Given the description of an element on the screen output the (x, y) to click on. 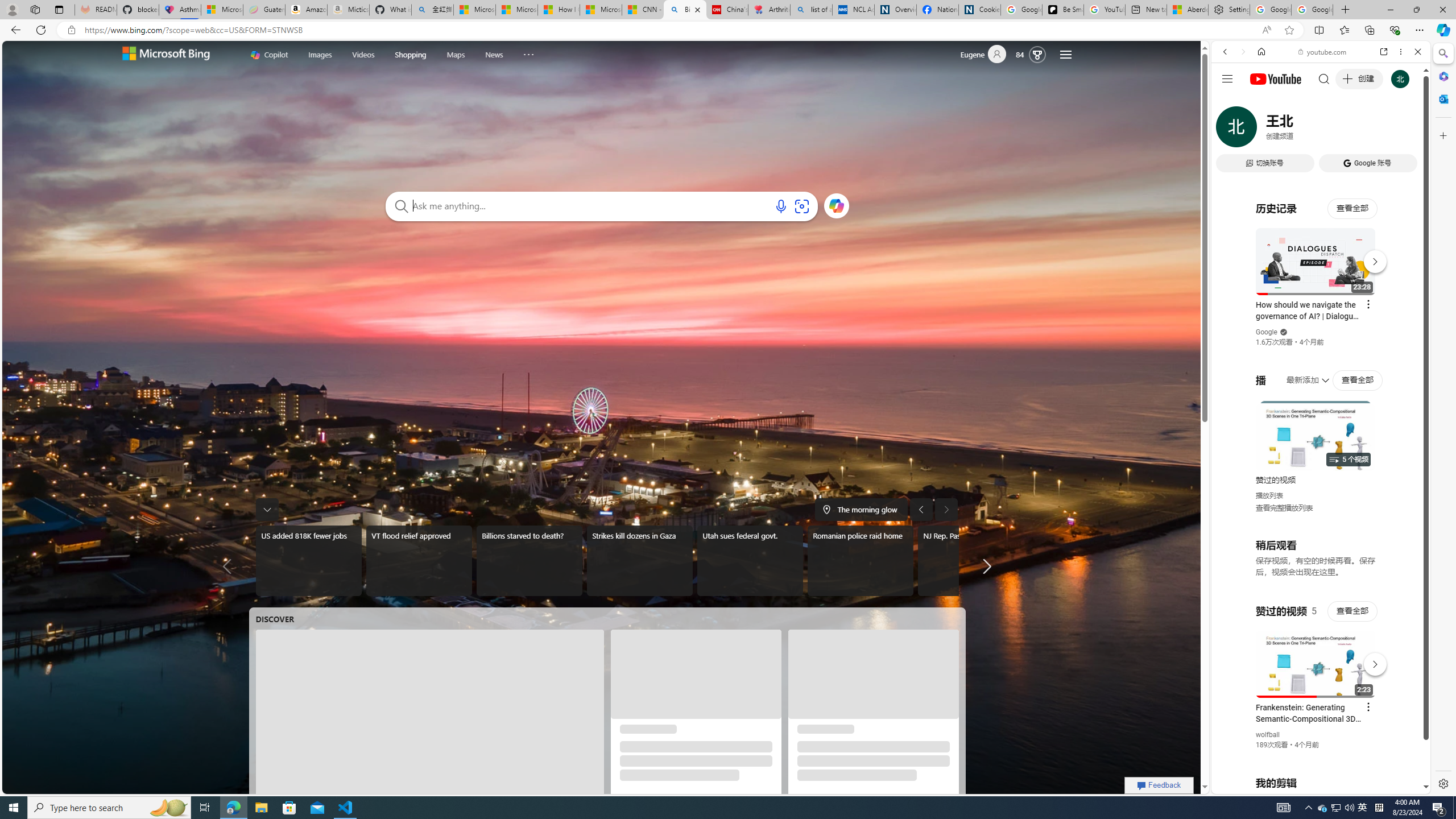
Class: dict_pnIcon rms_img (1312, 784)
YouTube - YouTube (1315, 560)
Videos (363, 53)
Welcome to Bing Search (165, 54)
Show More Music (1390, 310)
